Given the description of an element on the screen output the (x, y) to click on. 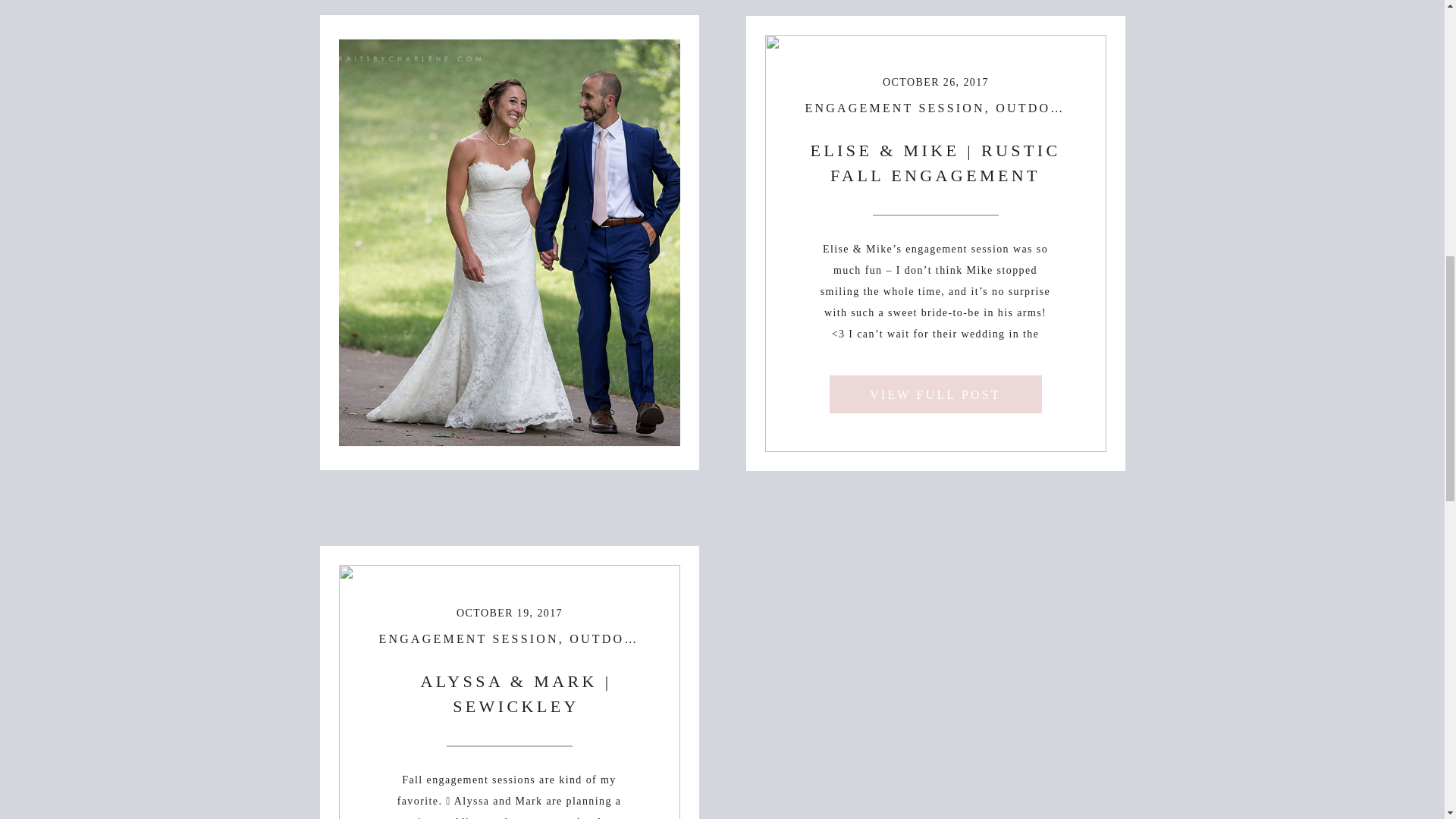
OUTDOOR SESSION (1068, 107)
OUTDOOR WEDDING (456, 107)
VIEW FULL POST (509, 394)
PARK WEDDING (606, 107)
VIEW FULL POST (935, 394)
ENGAGEMENT SESSION (895, 107)
